Given the description of an element on the screen output the (x, y) to click on. 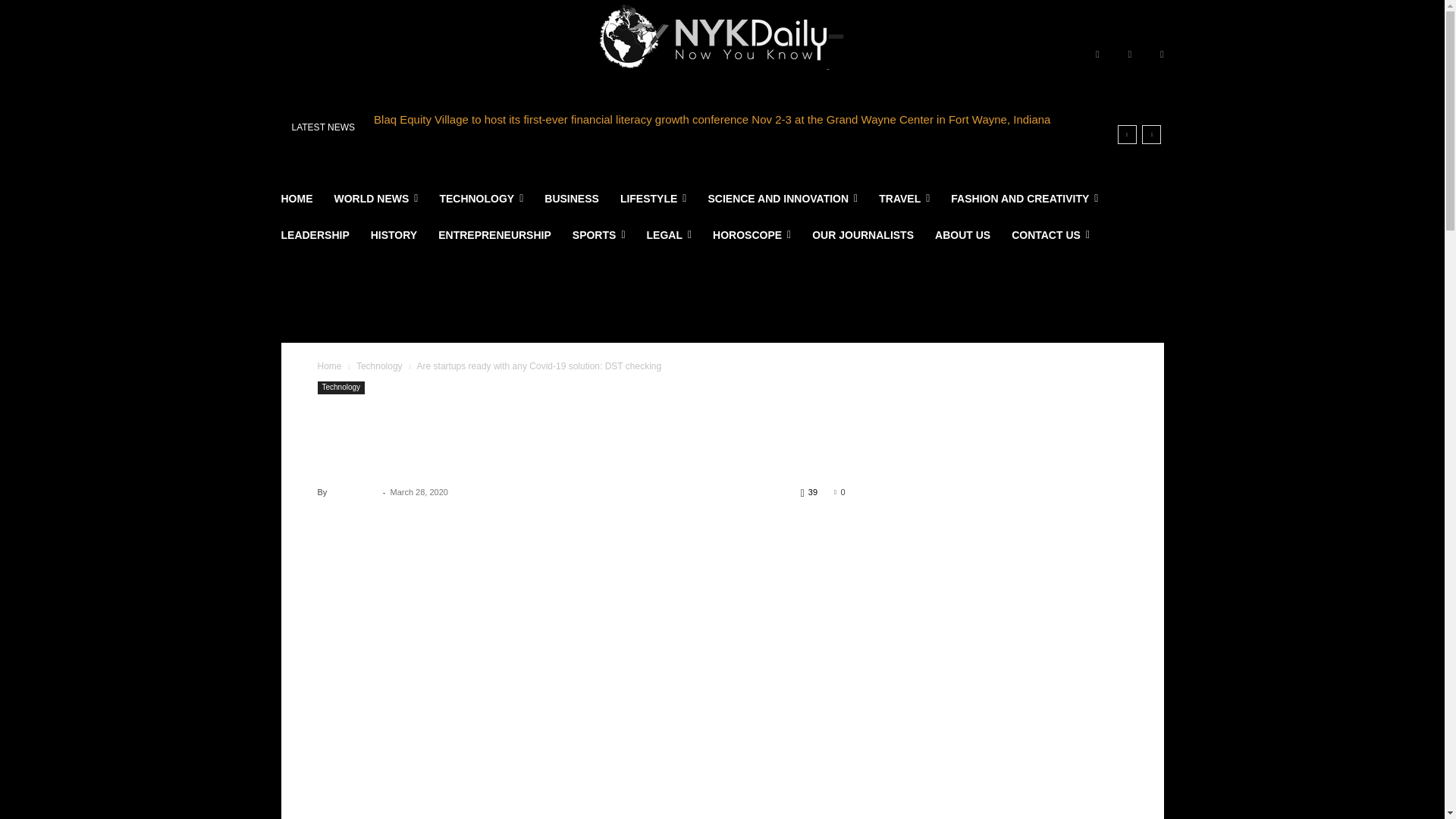
Facebook (1096, 54)
Twitter (1162, 54)
Instagram (1130, 54)
